Given the description of an element on the screen output the (x, y) to click on. 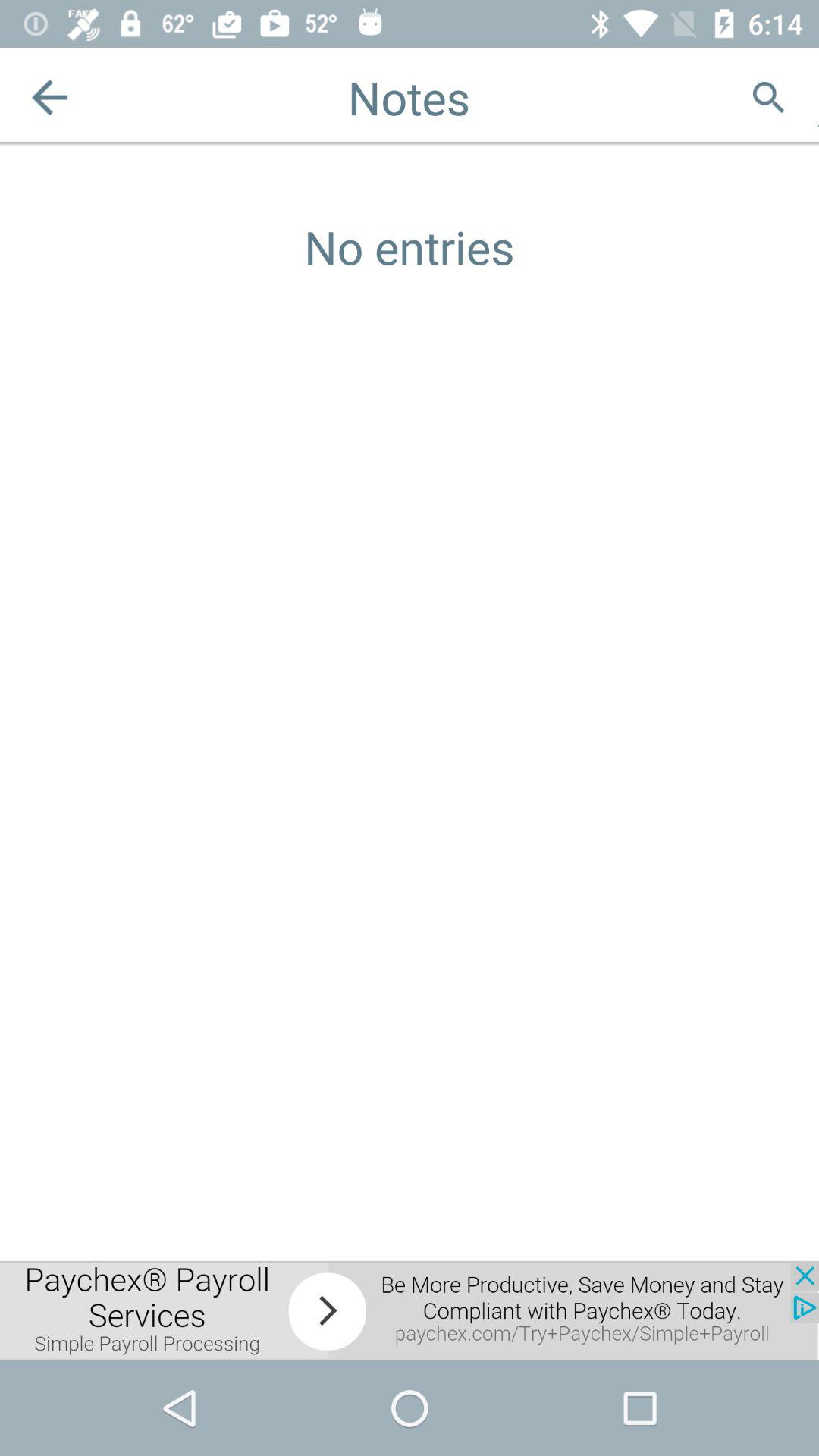
advertisement link (409, 1310)
